Given the description of an element on the screen output the (x, y) to click on. 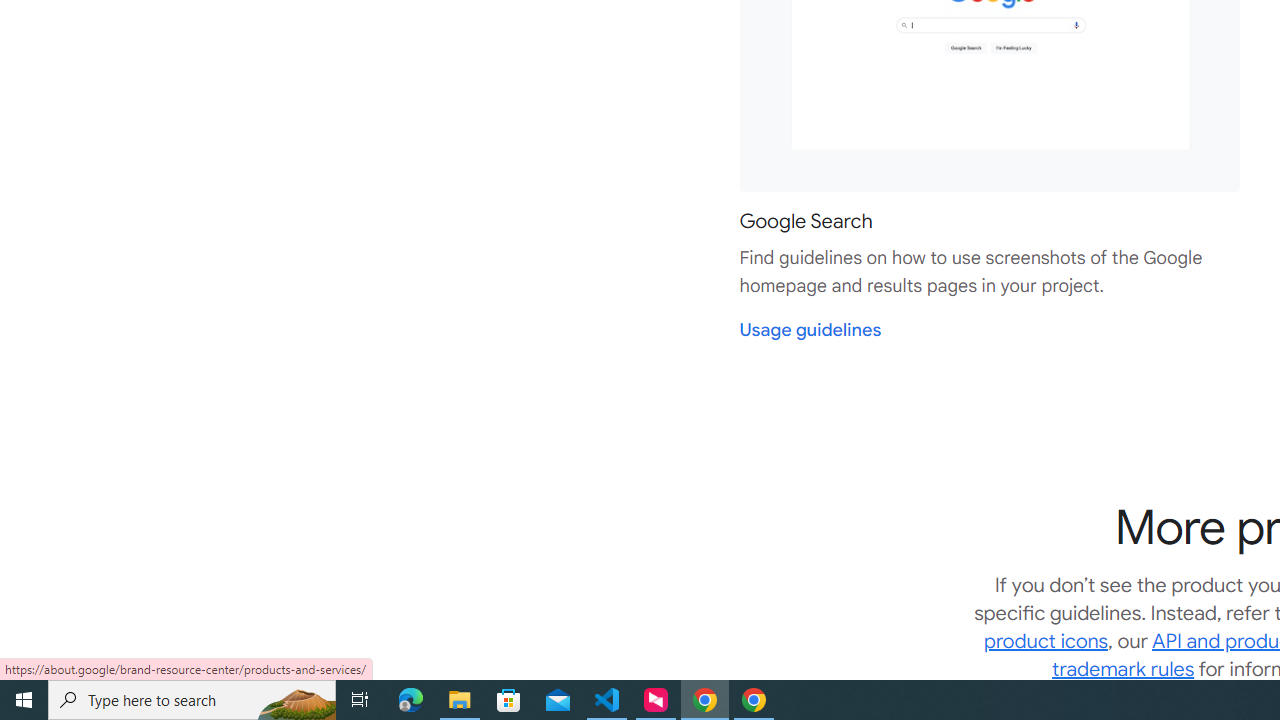
trademark rules (1123, 668)
Usage guidelines (809, 329)
